Given the description of an element on the screen output the (x, y) to click on. 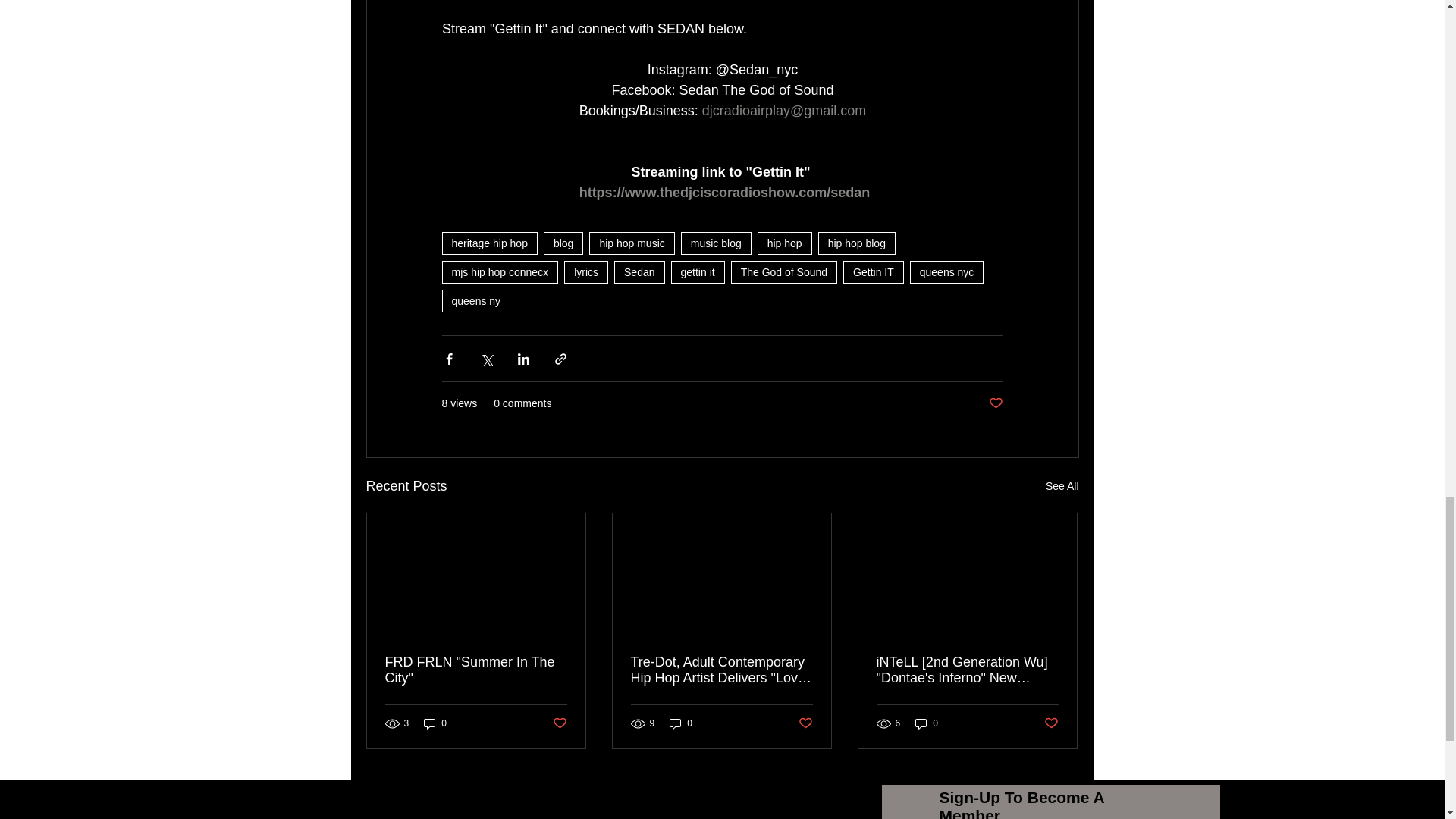
hip hop music (631, 242)
hip hop (784, 242)
music blog (716, 242)
heritage hip hop (489, 242)
hip hop blog (856, 242)
mjs hip hop connecx (499, 272)
gettin it (698, 272)
lyrics (586, 272)
queens ny (476, 300)
queens nyc (947, 272)
